Given the description of an element on the screen output the (x, y) to click on. 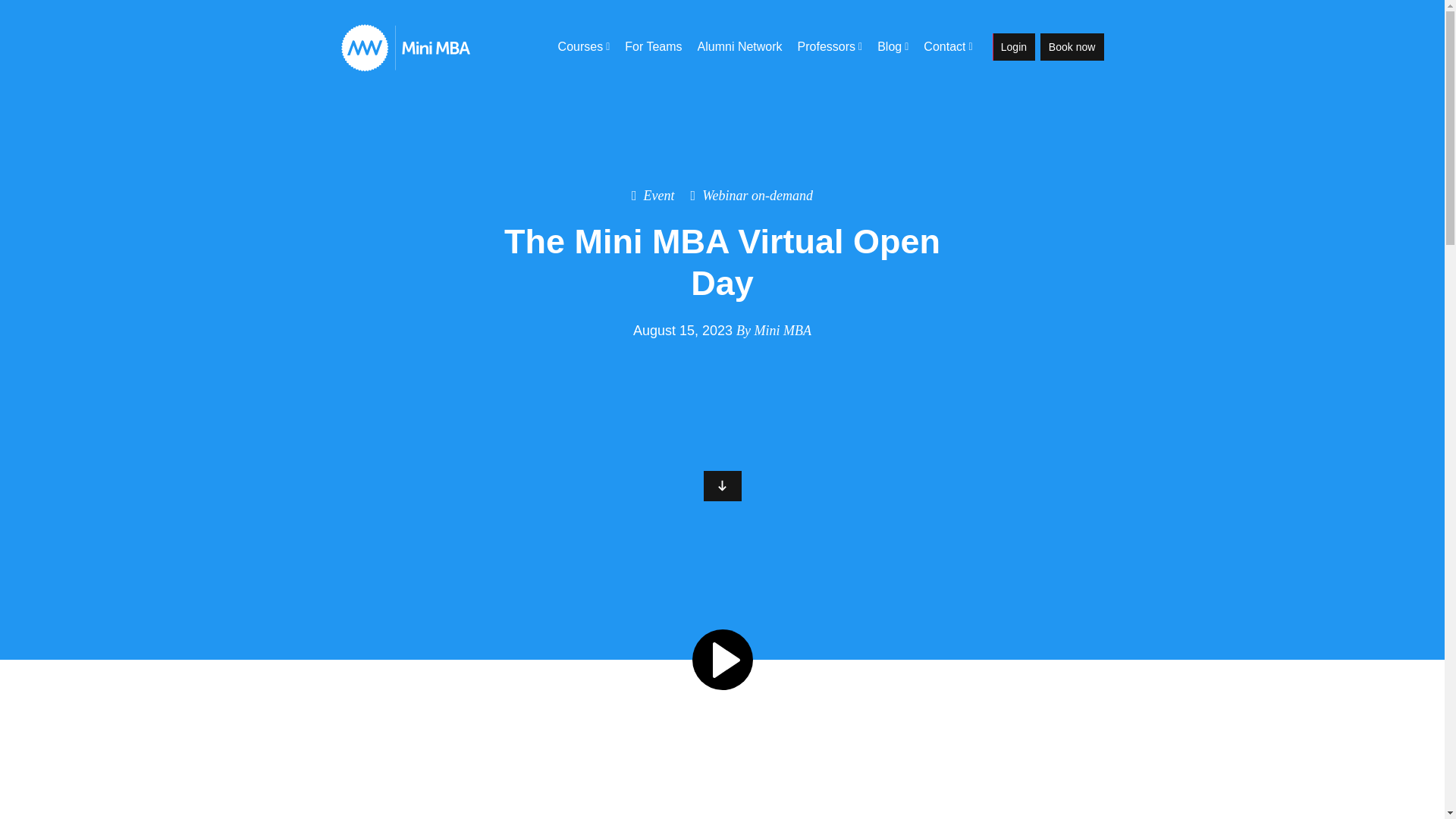
Contact (947, 47)
Webinar on-demand (751, 195)
Courses (583, 47)
For Teams (652, 47)
Mini MBA (782, 330)
Book now (1072, 46)
Login (1013, 46)
Posts by Mini MBA (782, 330)
Professors (830, 47)
Blog (892, 47)
Event (653, 195)
Alumni Network (740, 47)
Mini MBA online courses with Mark Ritson (405, 66)
